Given the description of an element on the screen output the (x, y) to click on. 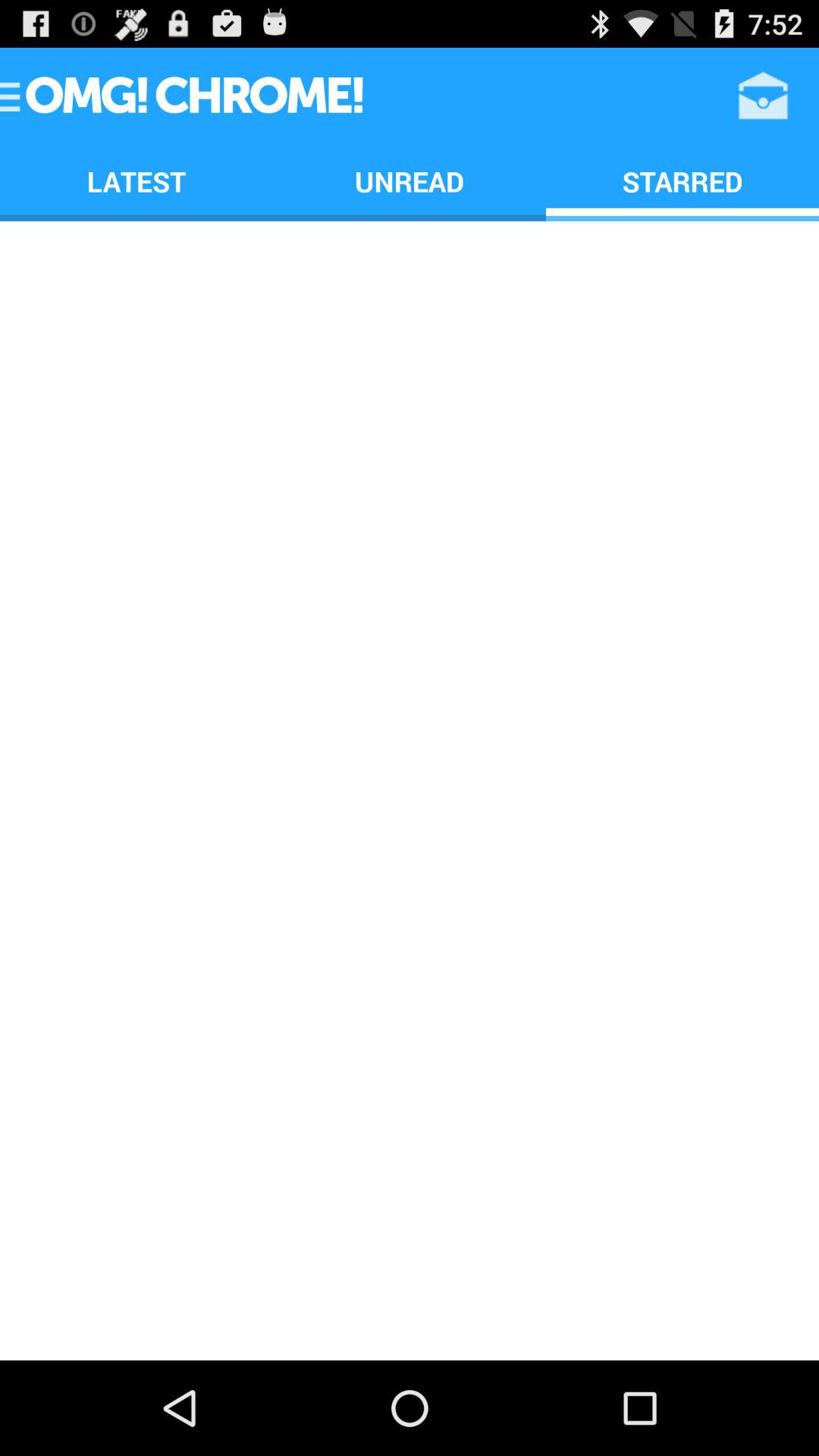
choose the icon next to starred icon (409, 181)
